Given the description of an element on the screen output the (x, y) to click on. 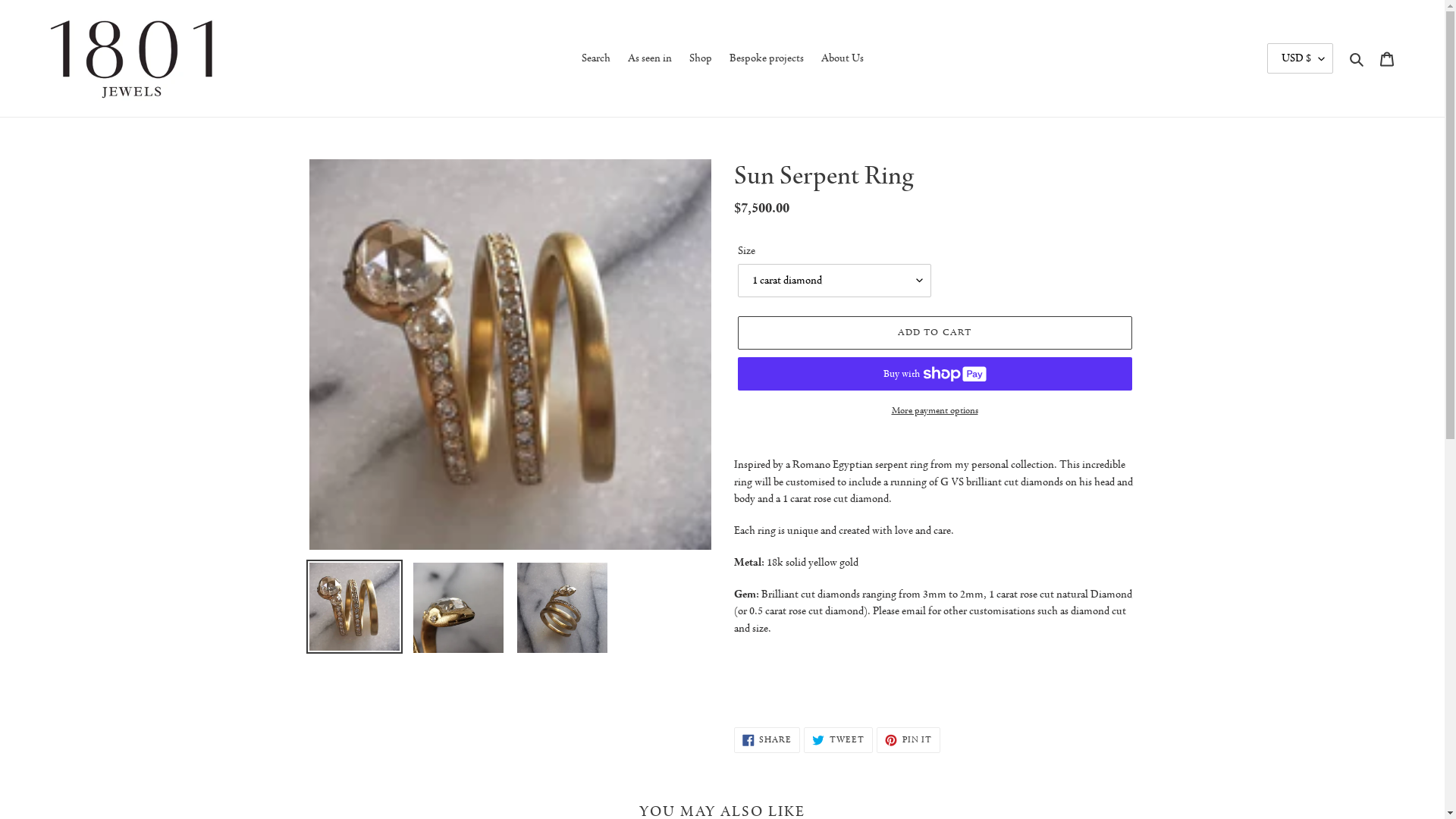
TWEET
TWEET ON TWITTER Element type: text (837, 740)
Cart Element type: text (1386, 58)
About Us Element type: text (841, 58)
Search Element type: text (1357, 58)
SHARE
SHARE ON FACEBOOK Element type: text (767, 740)
Search Element type: text (595, 58)
ADD TO CART Element type: text (934, 332)
More payment options Element type: text (934, 410)
USD $ Element type: text (1300, 58)
Shop Element type: text (699, 58)
Bespoke projects Element type: text (766, 58)
PIN IT
PIN ON PINTEREST Element type: text (908, 740)
As seen in Element type: text (649, 58)
